Given the description of an element on the screen output the (x, y) to click on. 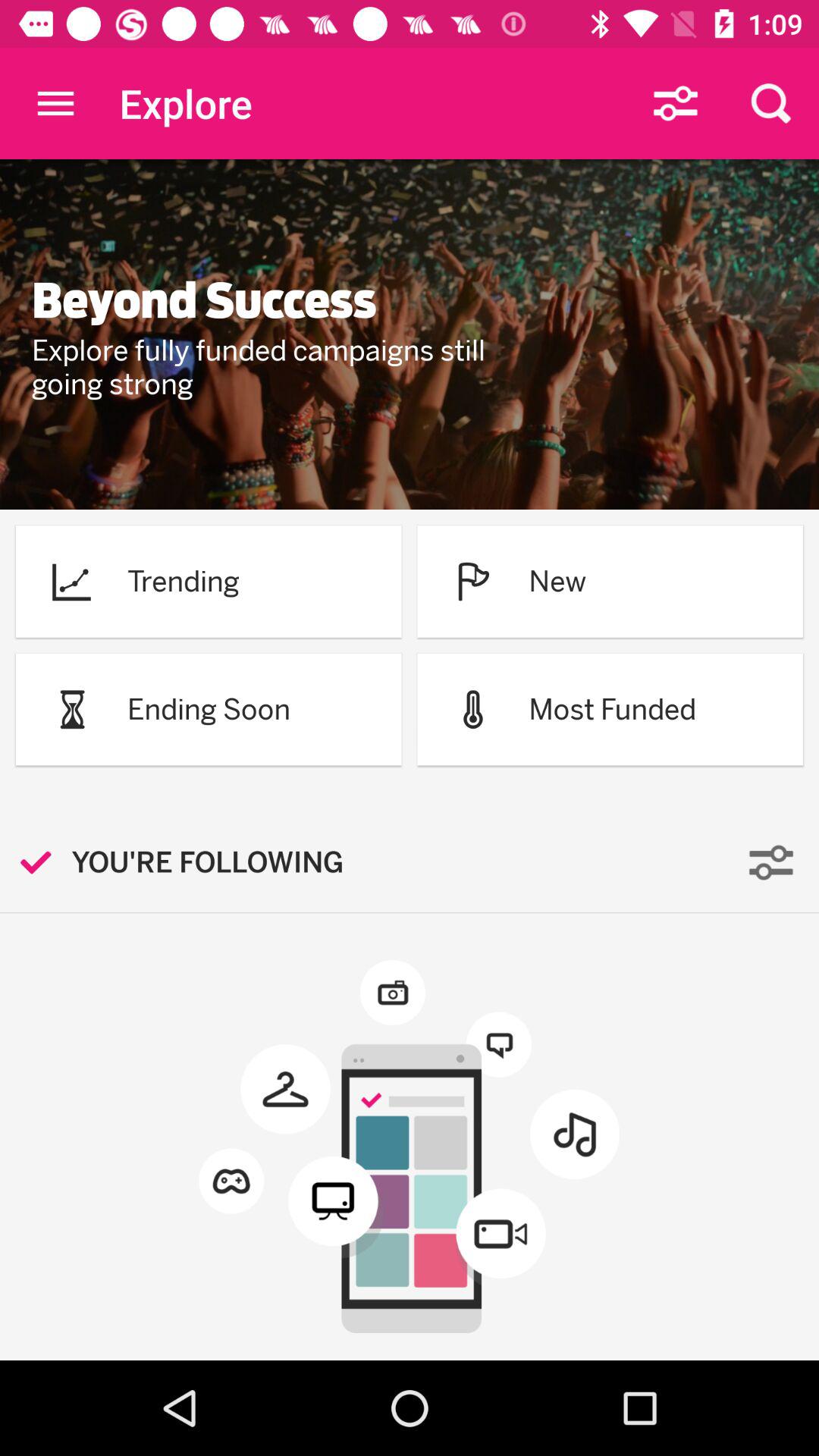
click item to the right of the trending icon (473, 581)
